Given the description of an element on the screen output the (x, y) to click on. 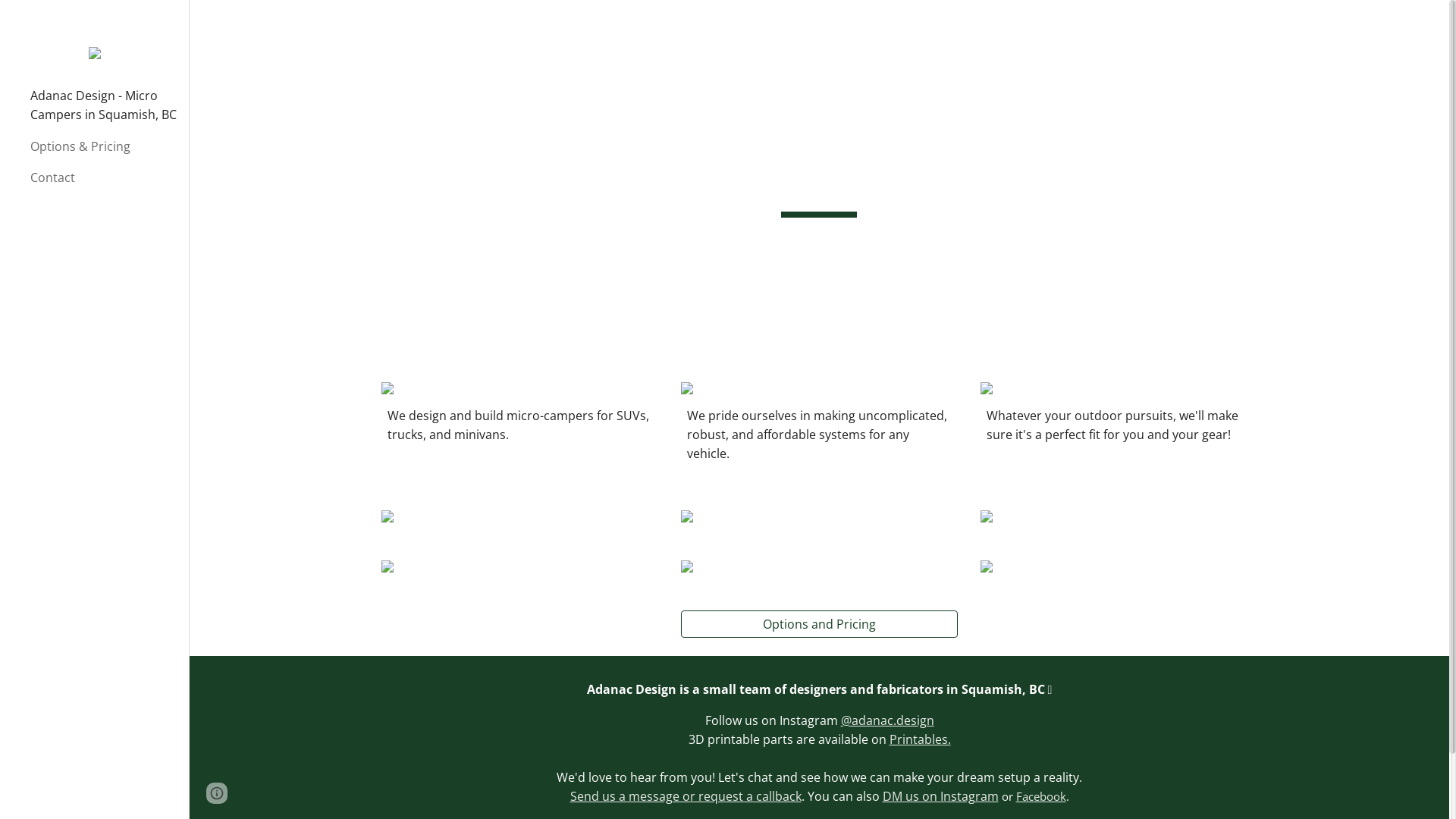
DM us on Instagram Element type: text (940, 795)
Facebook Element type: text (1041, 795)
Options and Pricing Element type: text (819, 623)
Send us a message or request a callback Element type: text (685, 795)
Contact Element type: text (103, 177)
@adanac.design Element type: text (886, 720)
Adanac Design - Micro Campers in Squamish, BC Element type: text (103, 105)
Options & Pricing Element type: text (103, 146)
Printables. Element type: text (953, 748)
